Given the description of an element on the screen output the (x, y) to click on. 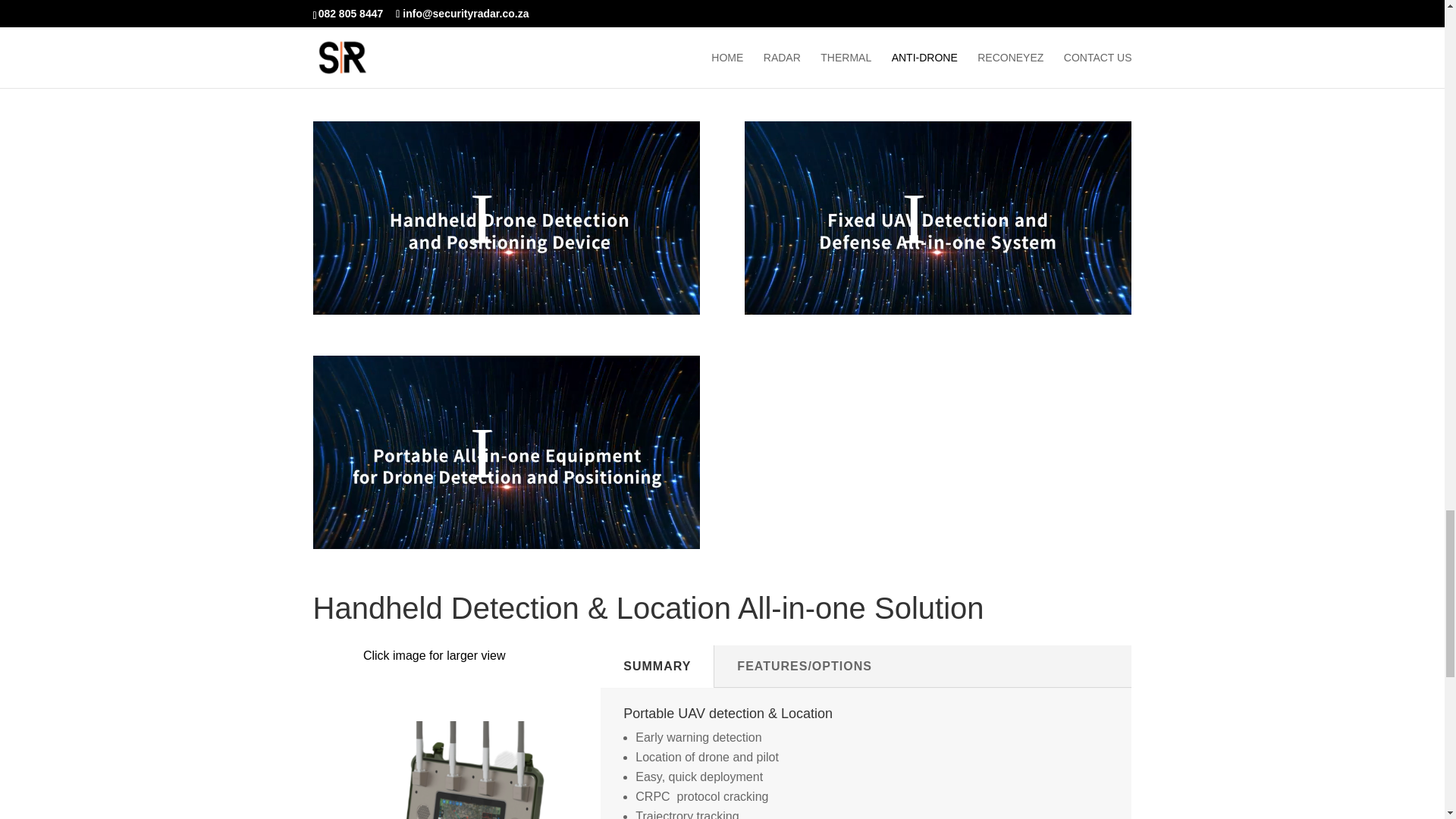
SUMMARY (656, 666)
